Given the description of an element on the screen output the (x, y) to click on. 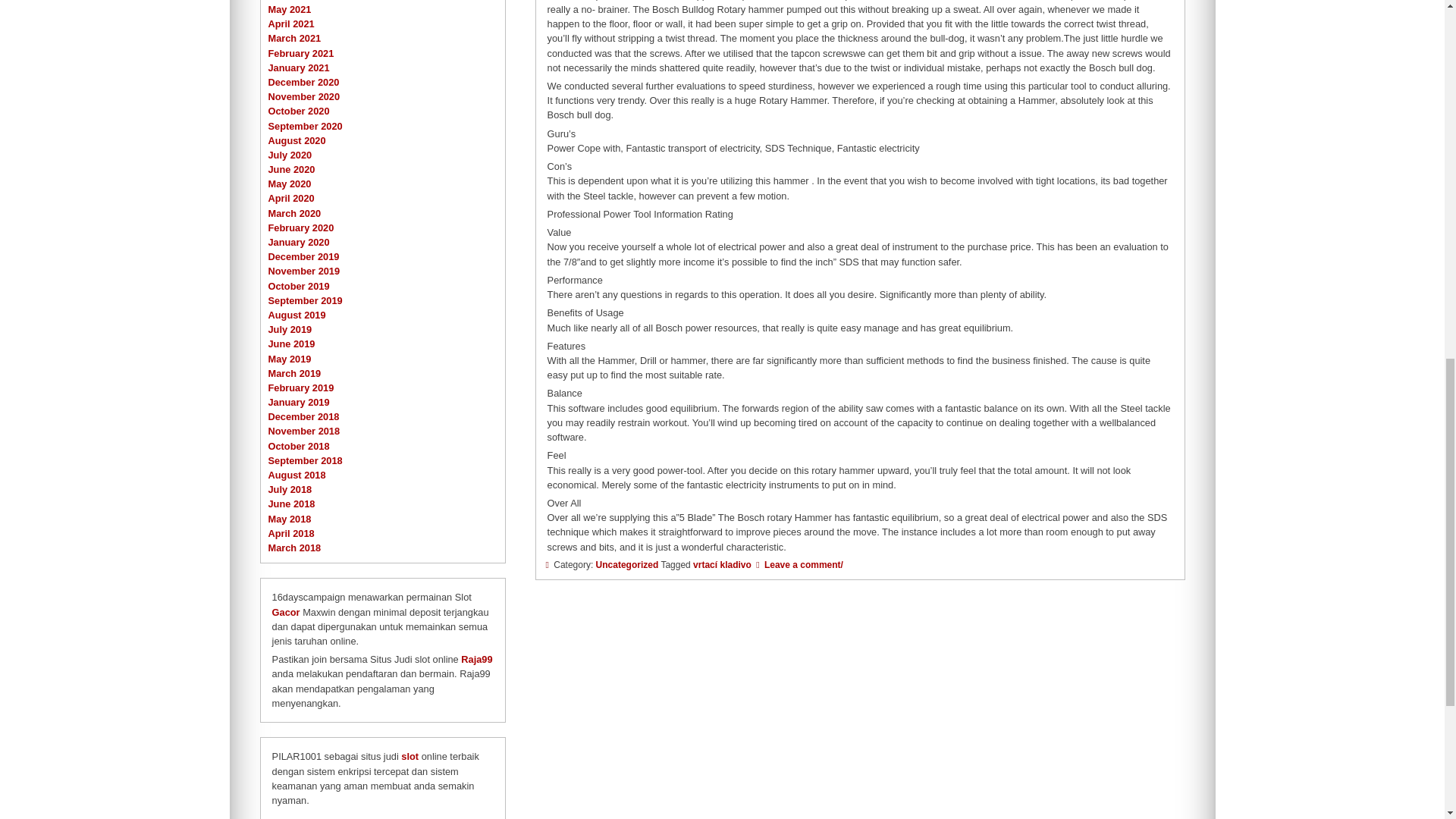
Uncategorized (627, 564)
